Given the description of an element on the screen output the (x, y) to click on. 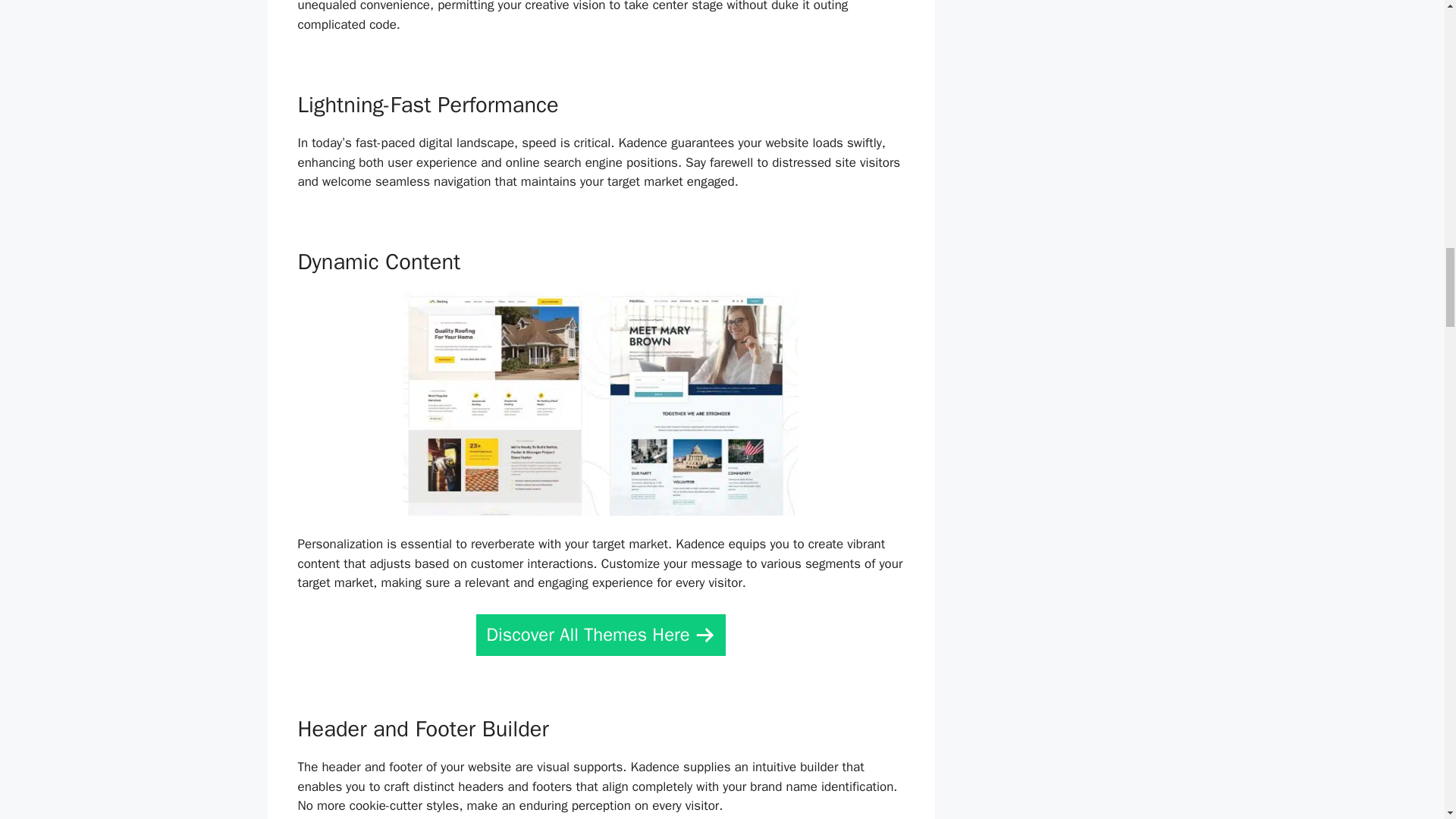
Discover All Themes Here (600, 635)
